Given the description of an element on the screen output the (x, y) to click on. 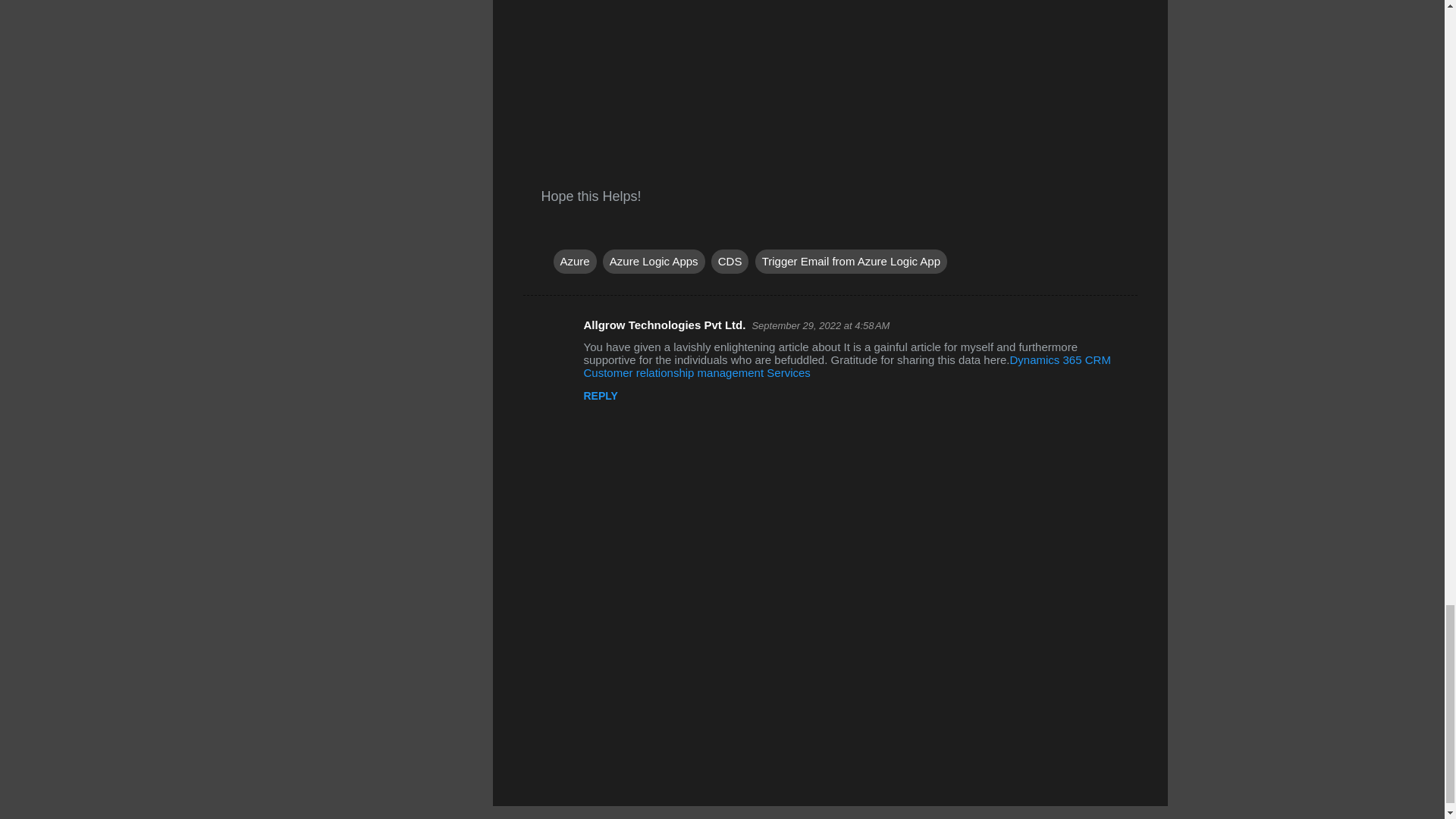
CDS (730, 261)
Allgrow Technologies Pvt Ltd. (664, 324)
Dynamics 365 CRM Customer relationship management Services (846, 365)
Azure Logic Apps (653, 261)
Azure (574, 261)
Trigger Email from Azure Logic App (851, 261)
REPLY (600, 395)
